Given the description of an element on the screen output the (x, y) to click on. 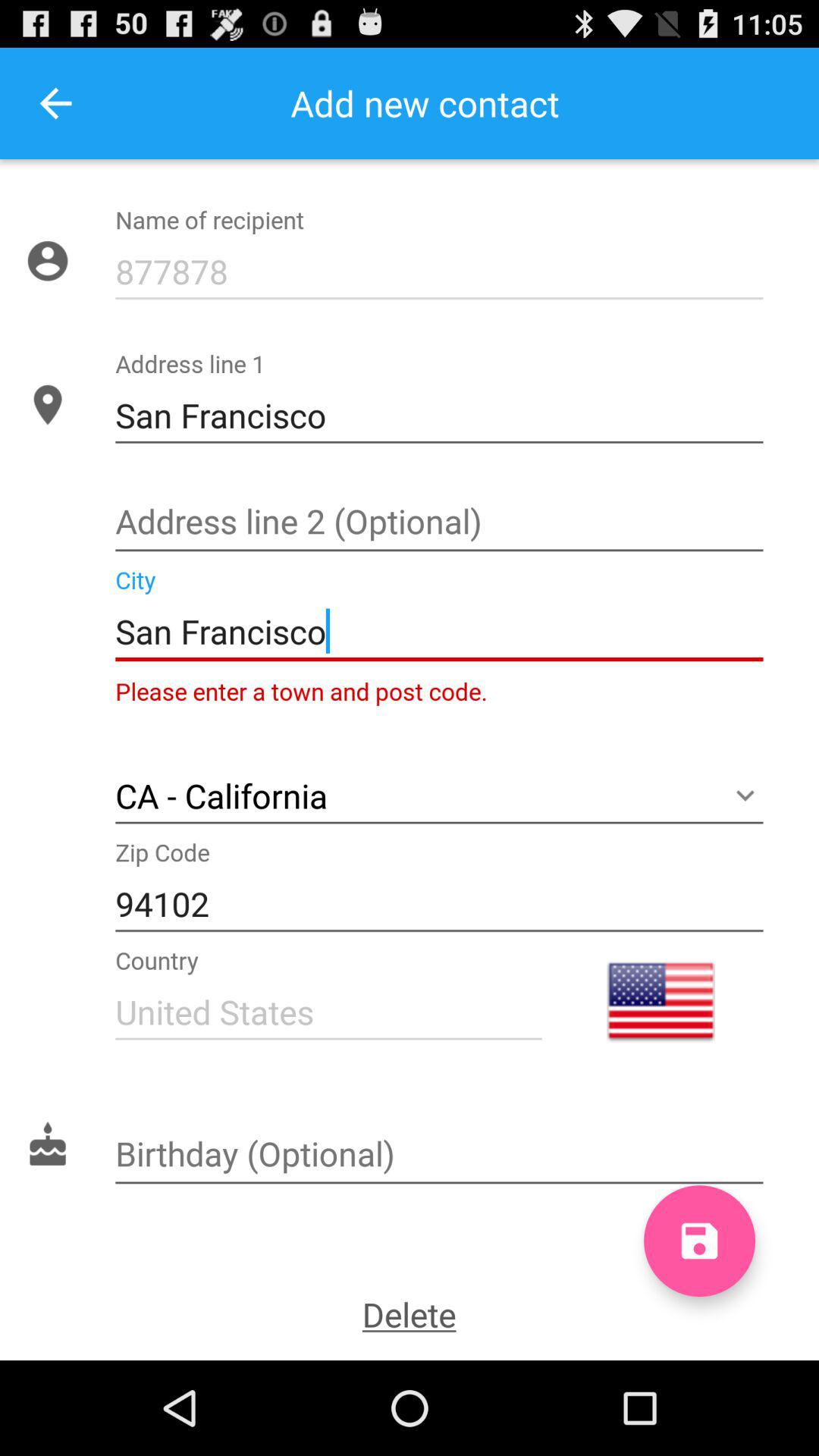
insert adress line two (439, 523)
